Given the description of an element on the screen output the (x, y) to click on. 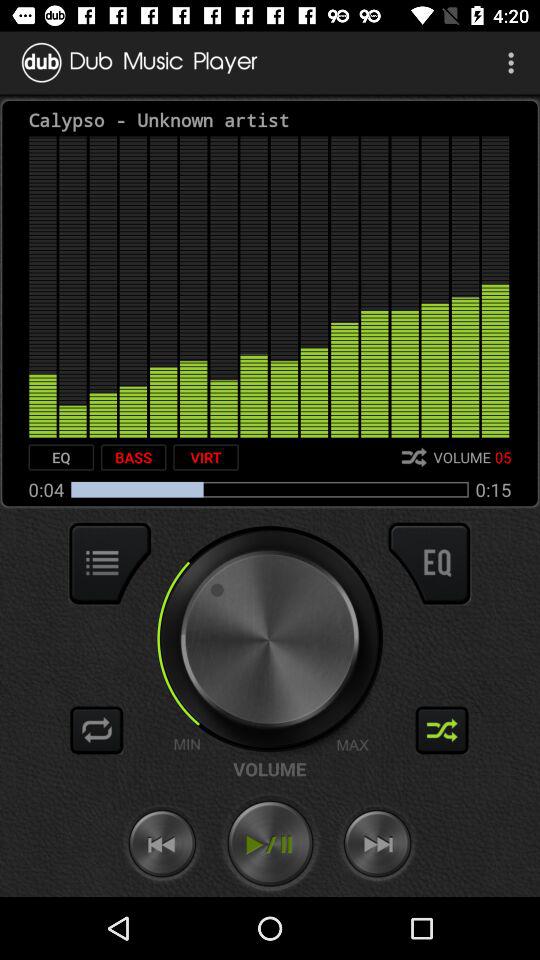
scroll until the  bass  icon (133, 457)
